Given the description of an element on the screen output the (x, y) to click on. 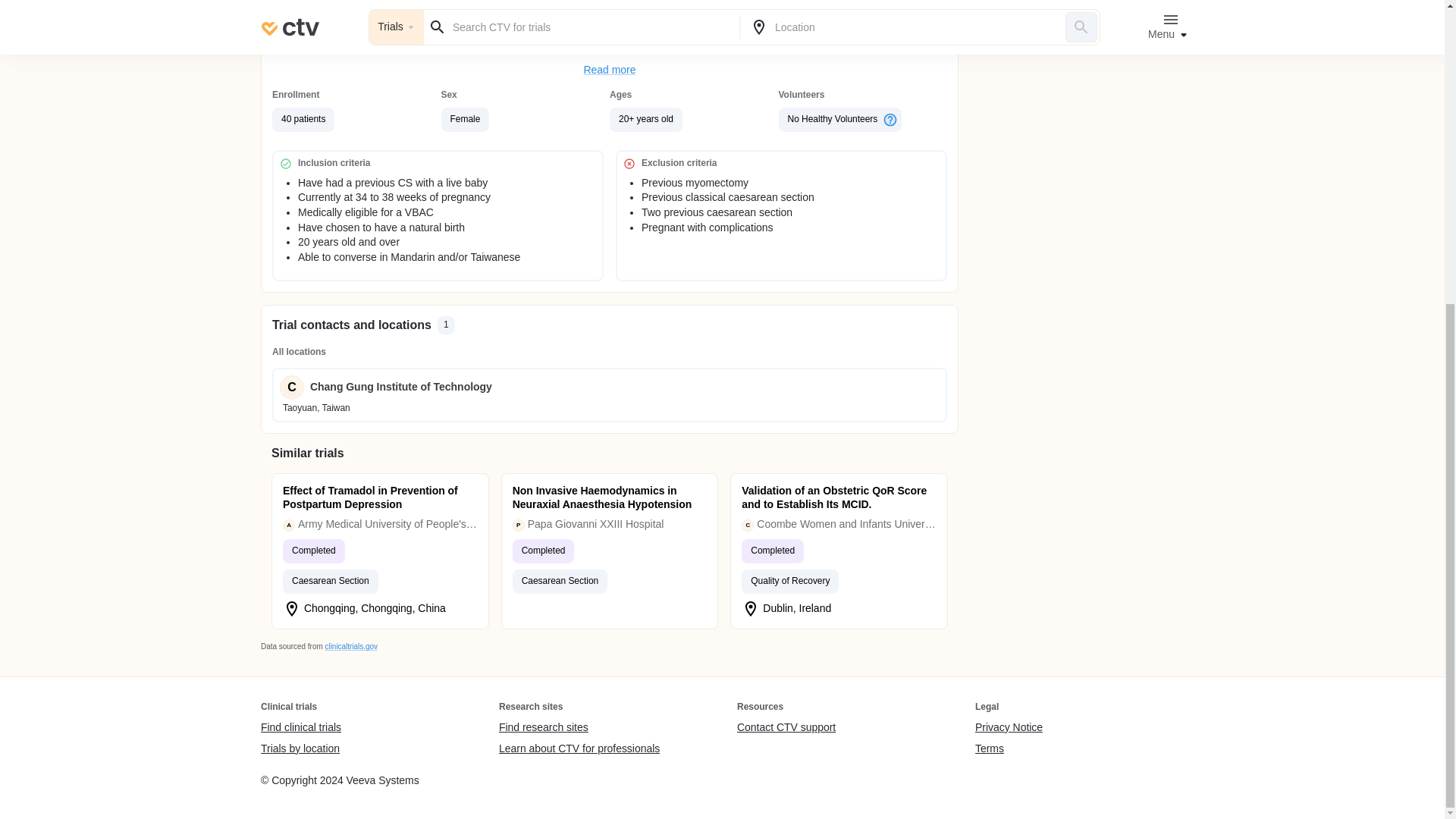
Contact CTV support (785, 727)
Find research sites (579, 727)
Privacy Notice (1008, 727)
Read more (609, 69)
Learn about CTV for professionals (579, 748)
clinicaltrials.gov (350, 646)
Trials by location (300, 748)
